Given the description of an element on the screen output the (x, y) to click on. 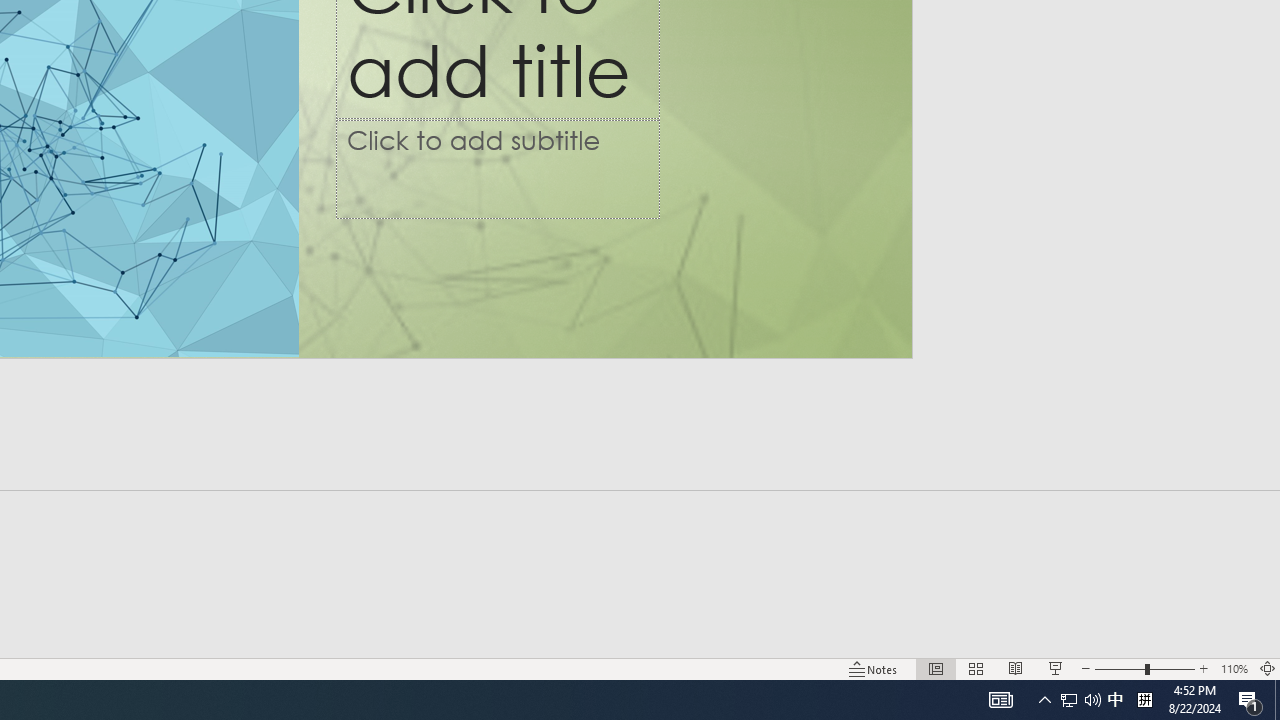
Zoom 110% (1234, 668)
